Given the description of an element on the screen output the (x, y) to click on. 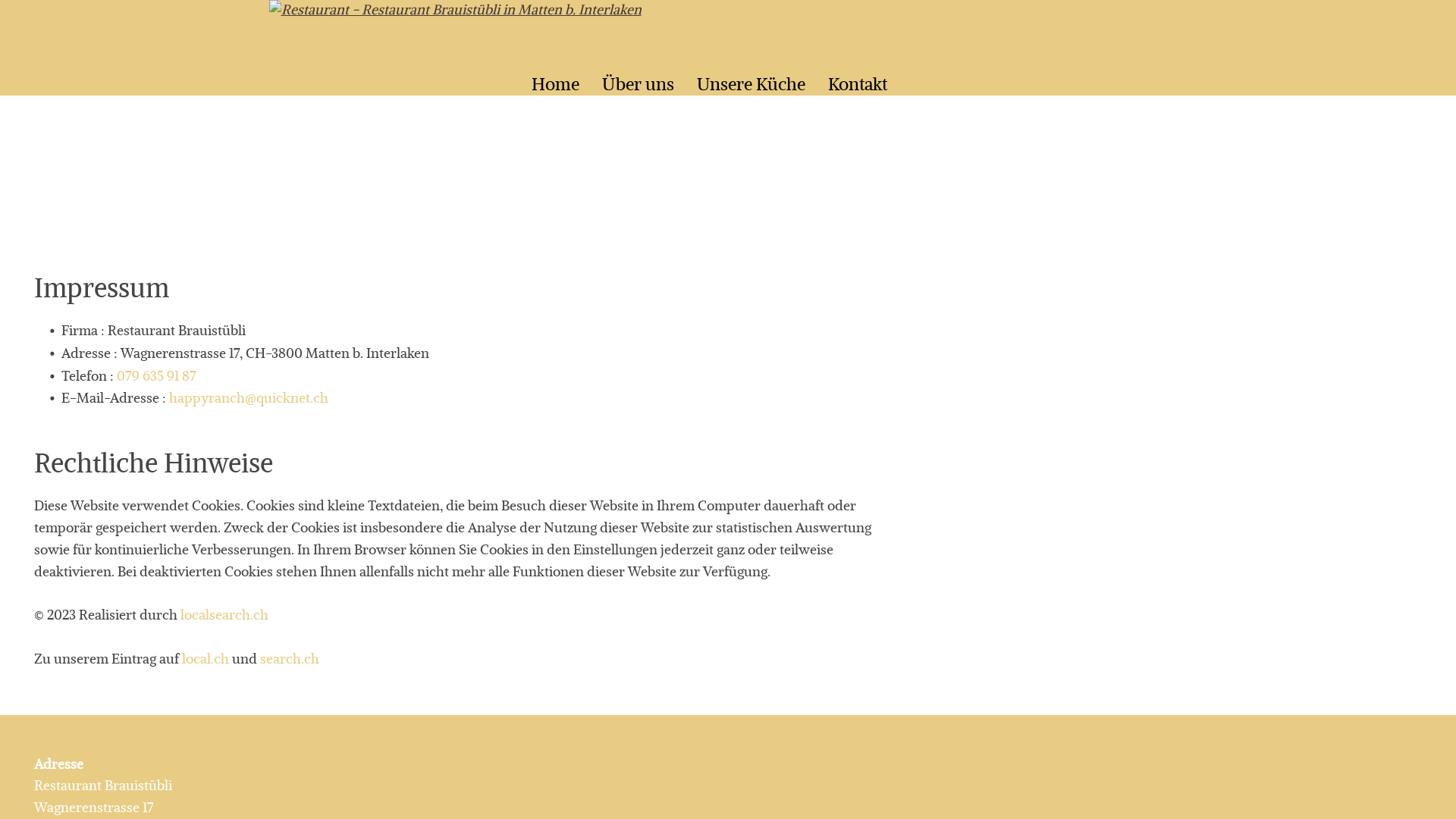
localsearch.ch Element type: text (224, 614)
079 635 91 87 Element type: text (156, 375)
local.ch Element type: text (205, 658)
happyranch@quicknet.ch Element type: text (248, 397)
Home Element type: text (555, 83)
search.ch Element type: text (289, 658)
Kontakt Element type: text (857, 83)
